Given the description of an element on the screen output the (x, y) to click on. 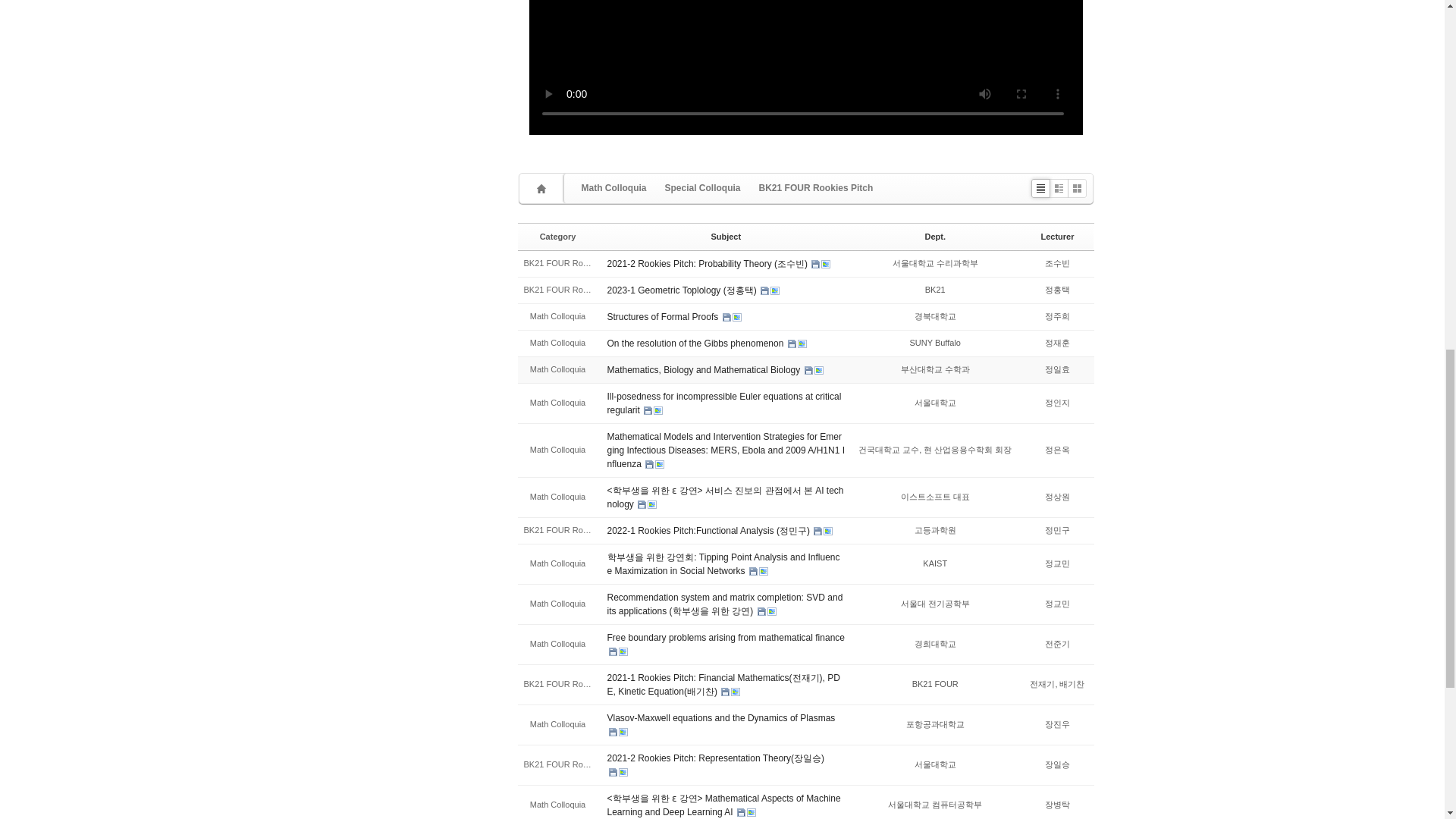
Articles 56 (816, 187)
Articles 17 (702, 187)
Text Style (1039, 188)
file (814, 264)
file (726, 316)
file (764, 290)
file (791, 343)
Articles '297' (542, 188)
Image (818, 370)
Gallery Style (1076, 188)
Image (825, 264)
Image (801, 343)
file (808, 370)
Image (736, 316)
Articles 223 (614, 187)
